Given the description of an element on the screen output the (x, y) to click on. 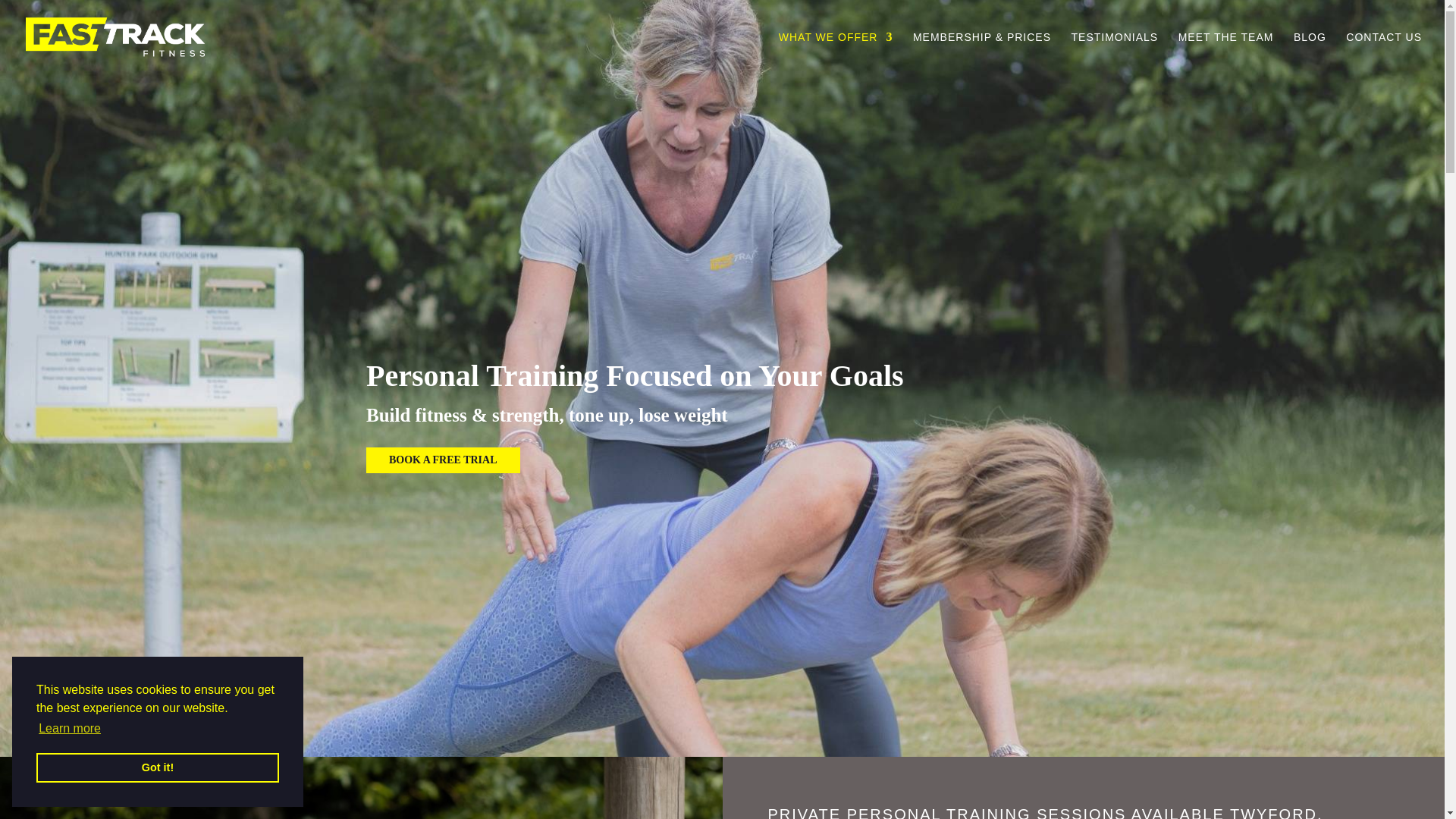
Learn more (69, 728)
WHAT WE OFFER (835, 52)
TESTIMONIALS (1114, 52)
MEET THE TEAM (1225, 52)
CONTACT US (1383, 52)
Got it! (157, 767)
BOOK A FREE TRIAL (442, 460)
